Given the description of an element on the screen output the (x, y) to click on. 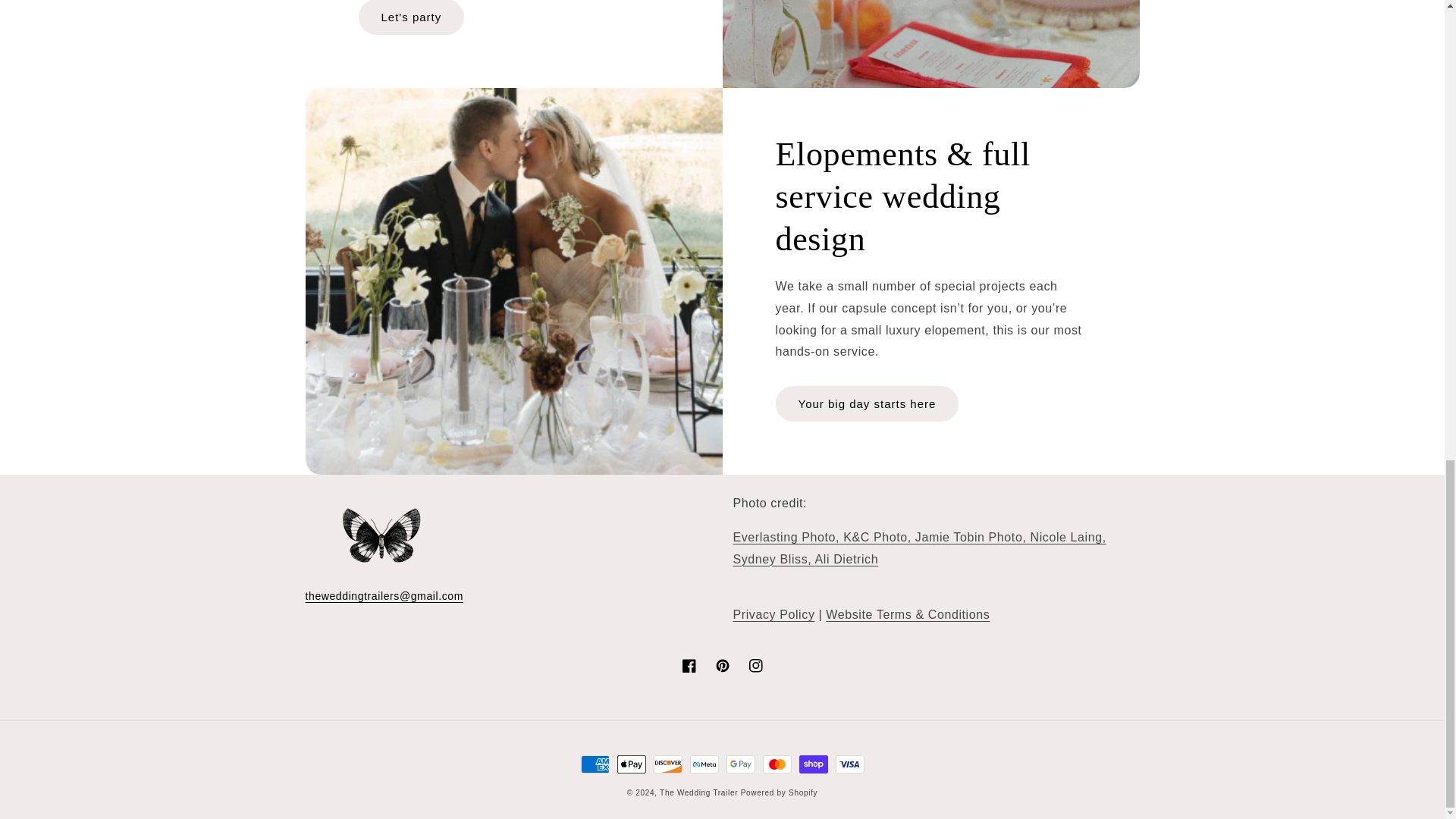
Terms and Conditions (907, 614)
Ali Dietrich (847, 558)
Your big day starts here (866, 403)
Jamie Tobin Photo, (972, 536)
Privacy Policy (772, 614)
Sydney Bliss, (772, 558)
Nicole Laing, (1067, 536)
Let's party (411, 17)
Everlasting Photo, (787, 536)
Privacy Policy (772, 614)
